Given the description of an element on the screen output the (x, y) to click on. 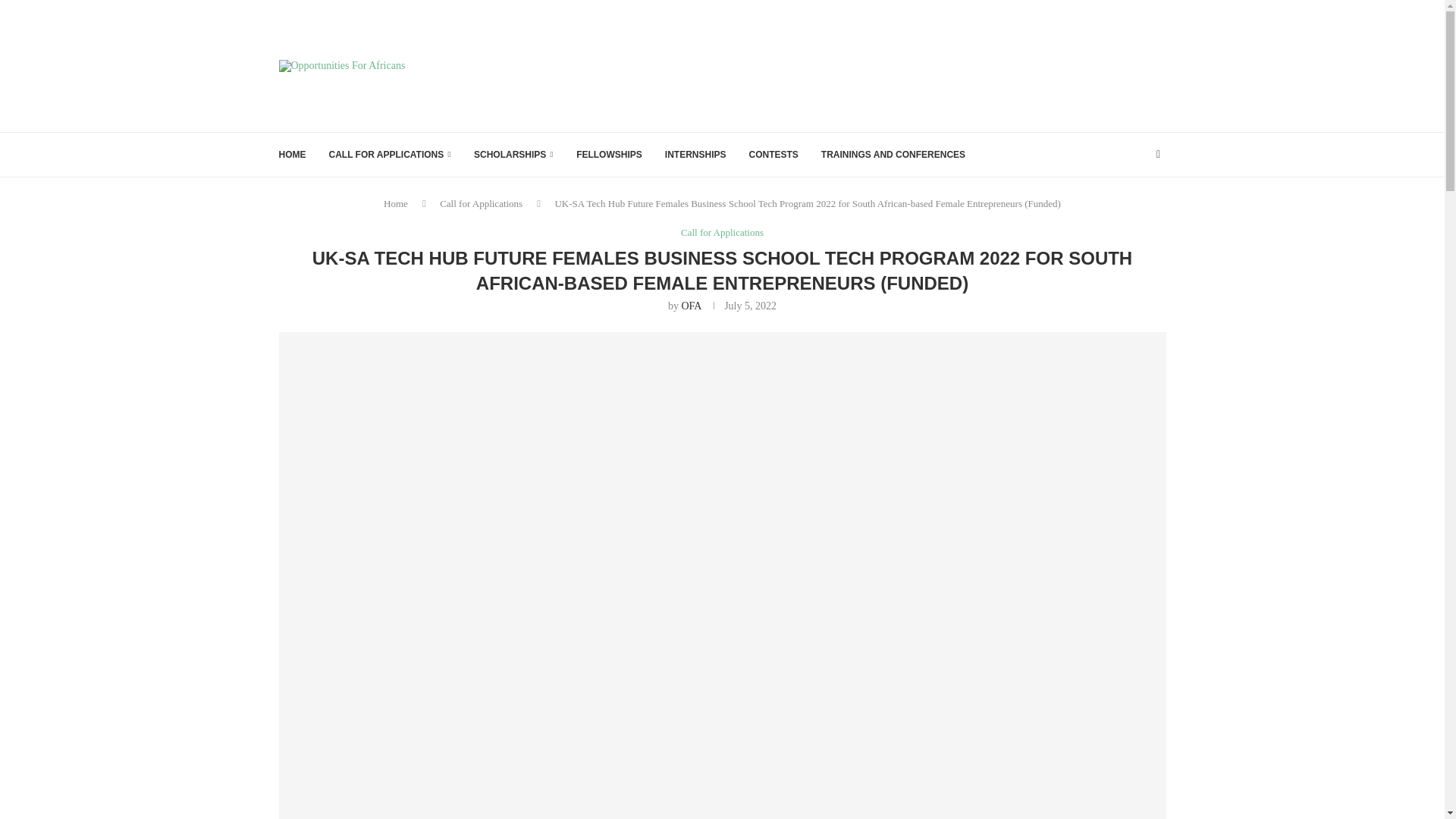
CONTESTS (772, 154)
OFA (690, 306)
SCHOLARSHIPS (513, 154)
TRAININGS AND CONFERENCES (893, 154)
Call for Applications (721, 232)
CALL FOR APPLICATIONS (390, 154)
INTERNSHIPS (695, 154)
Call for Applications (480, 203)
FELLOWSHIPS (609, 154)
Home (395, 203)
